Given the description of an element on the screen output the (x, y) to click on. 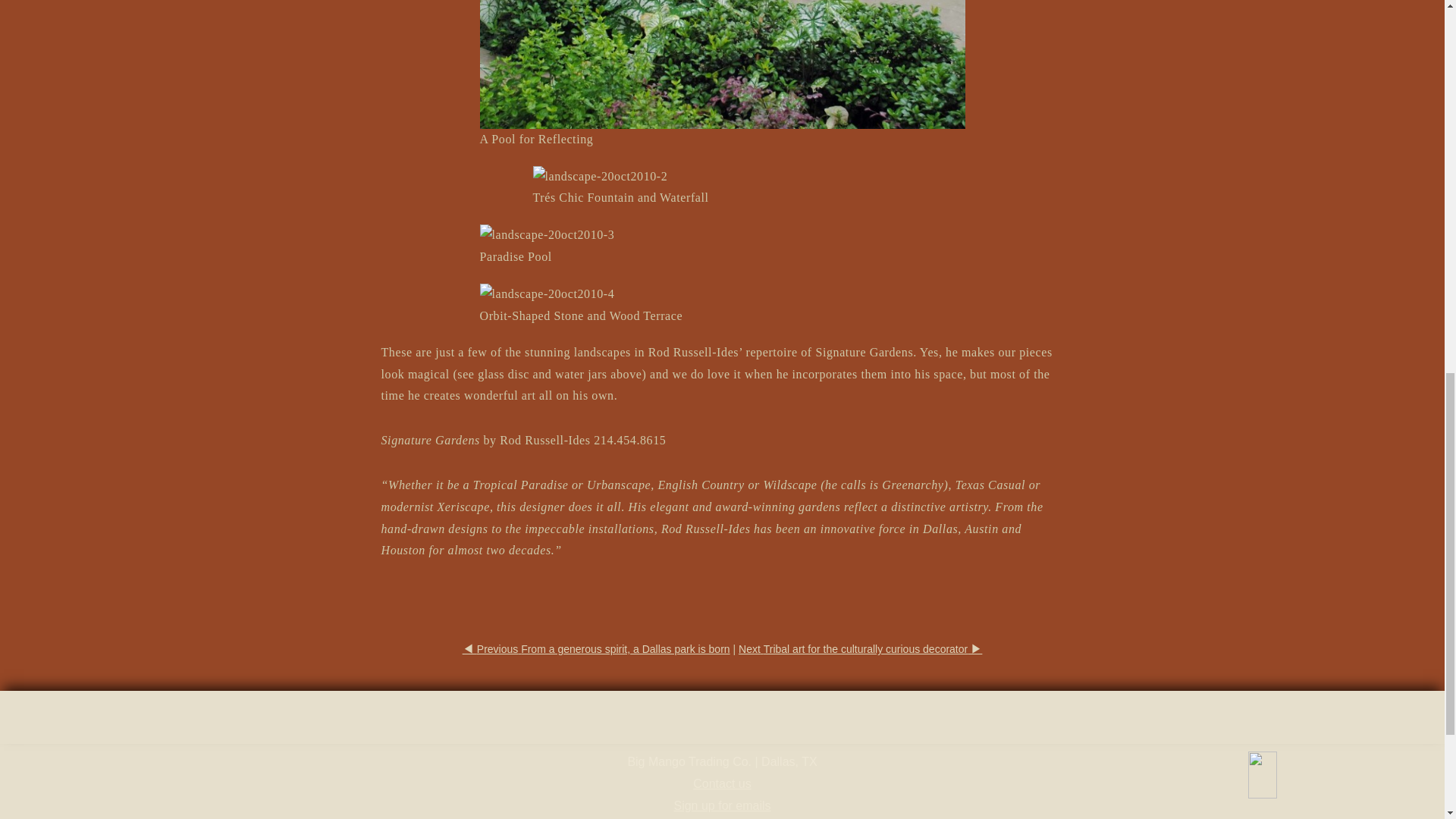
Sign up for emails (721, 805)
Contact us (722, 783)
